Given the description of an element on the screen output the (x, y) to click on. 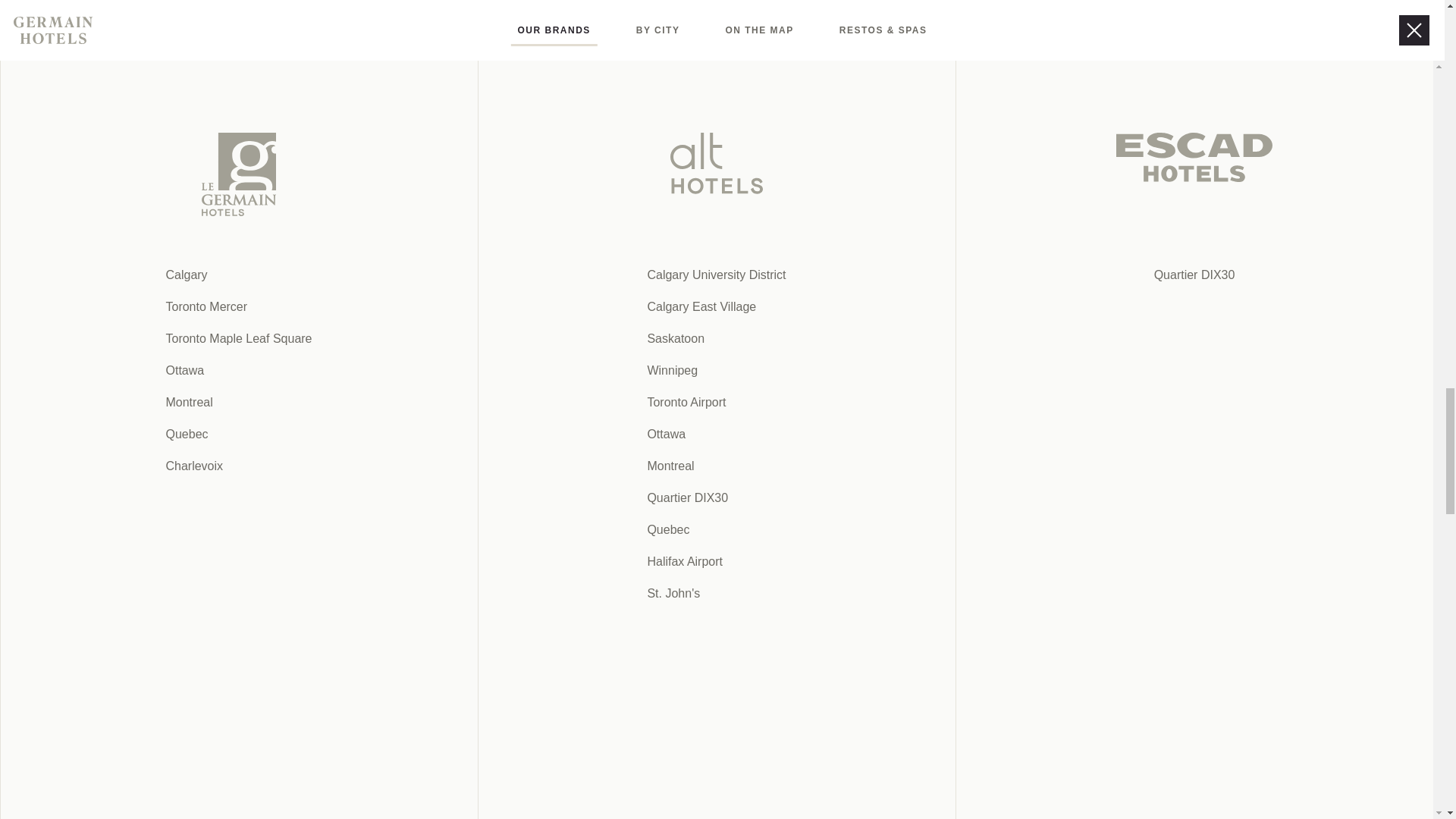
The Berry Barn (613, 435)
